Given the description of an element on the screen output the (x, y) to click on. 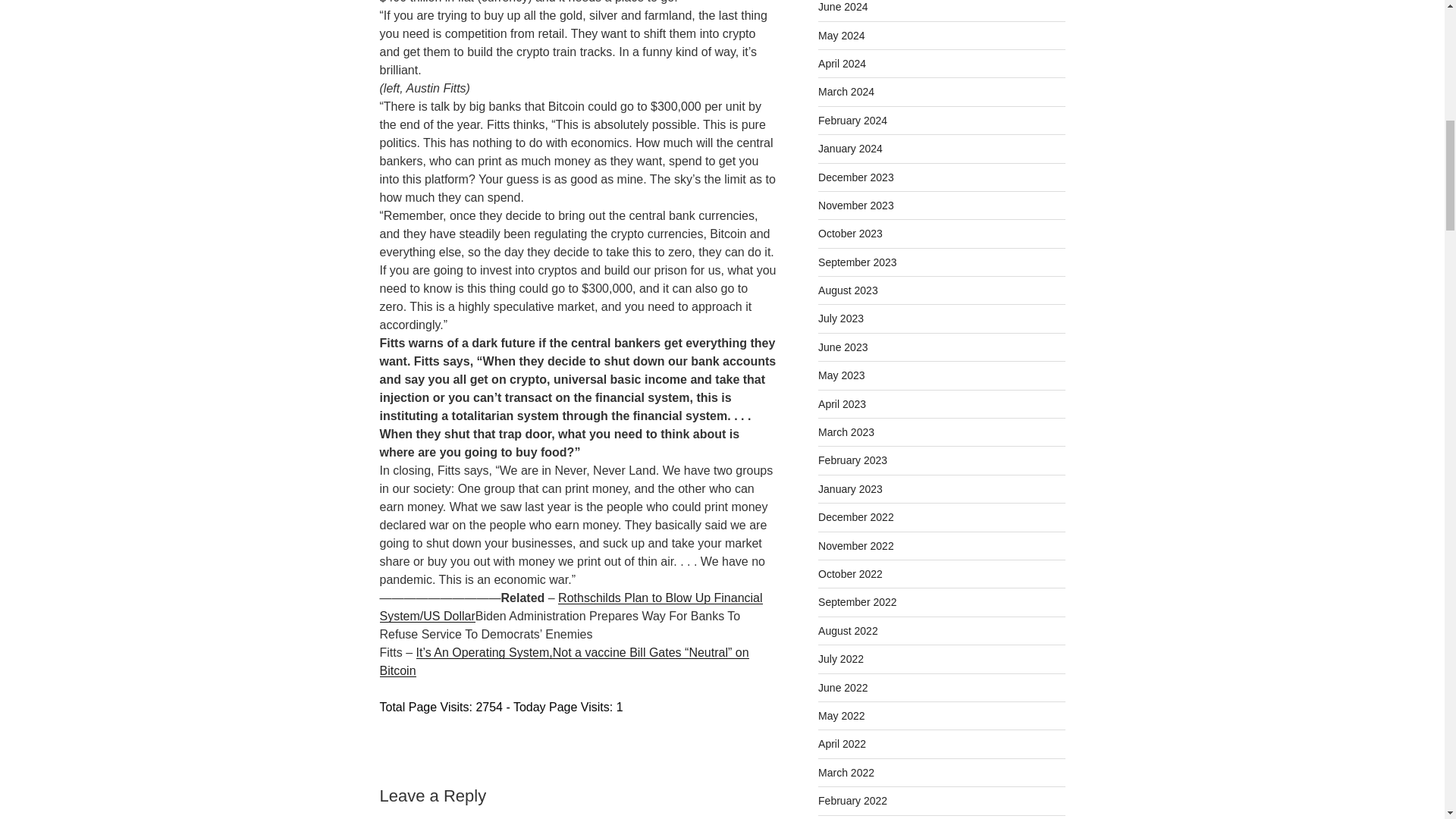
August 2023 (847, 290)
September 2023 (857, 262)
February 2024 (852, 120)
May 2024 (841, 35)
January 2024 (850, 148)
July 2023 (840, 318)
December 2023 (855, 177)
March 2024 (846, 91)
November 2023 (855, 205)
June 2024 (842, 6)
April 2024 (842, 63)
October 2023 (850, 233)
